Given the description of an element on the screen output the (x, y) to click on. 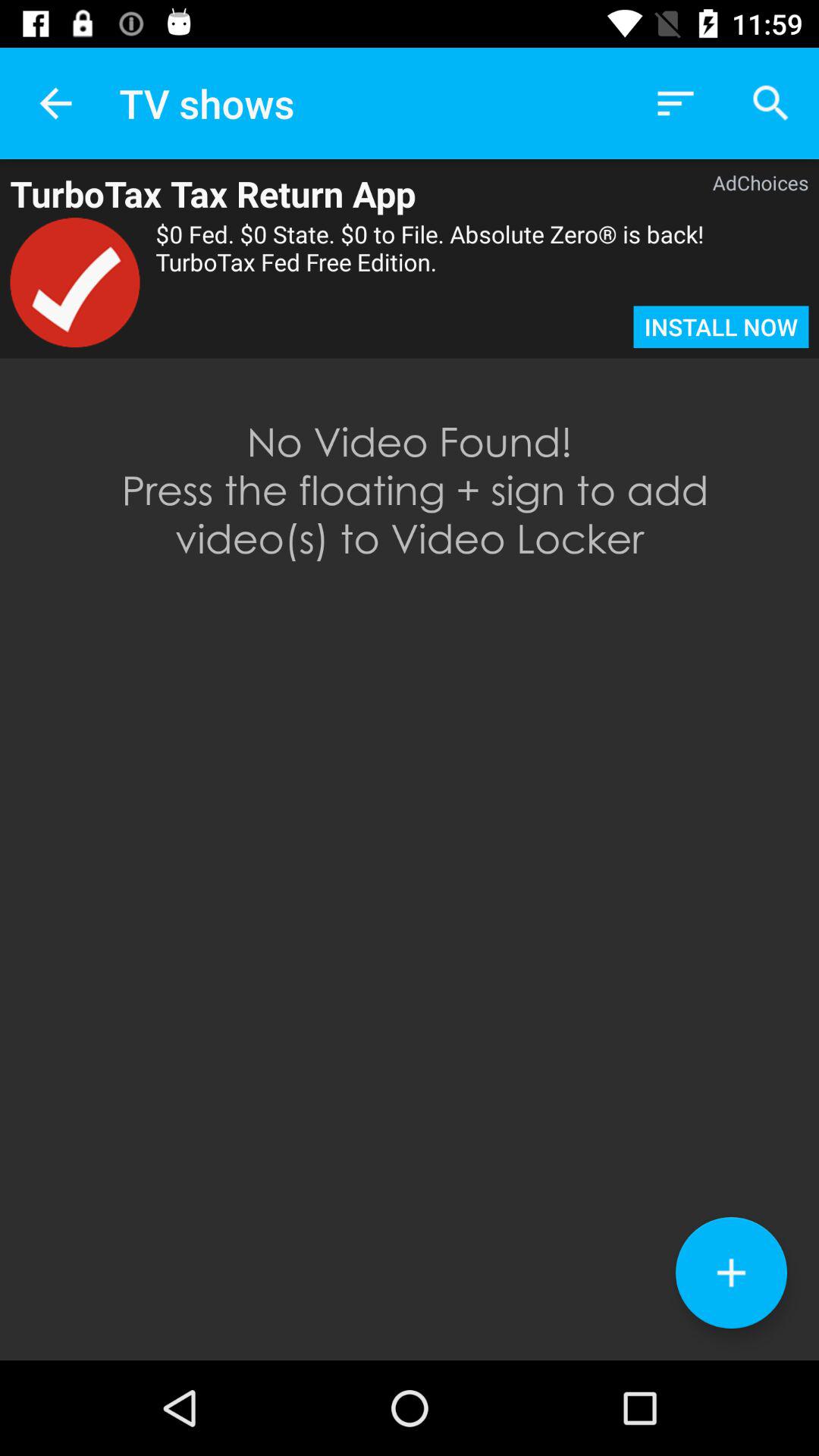
launch app to the left of the tv shows icon (55, 103)
